Given the description of an element on the screen output the (x, y) to click on. 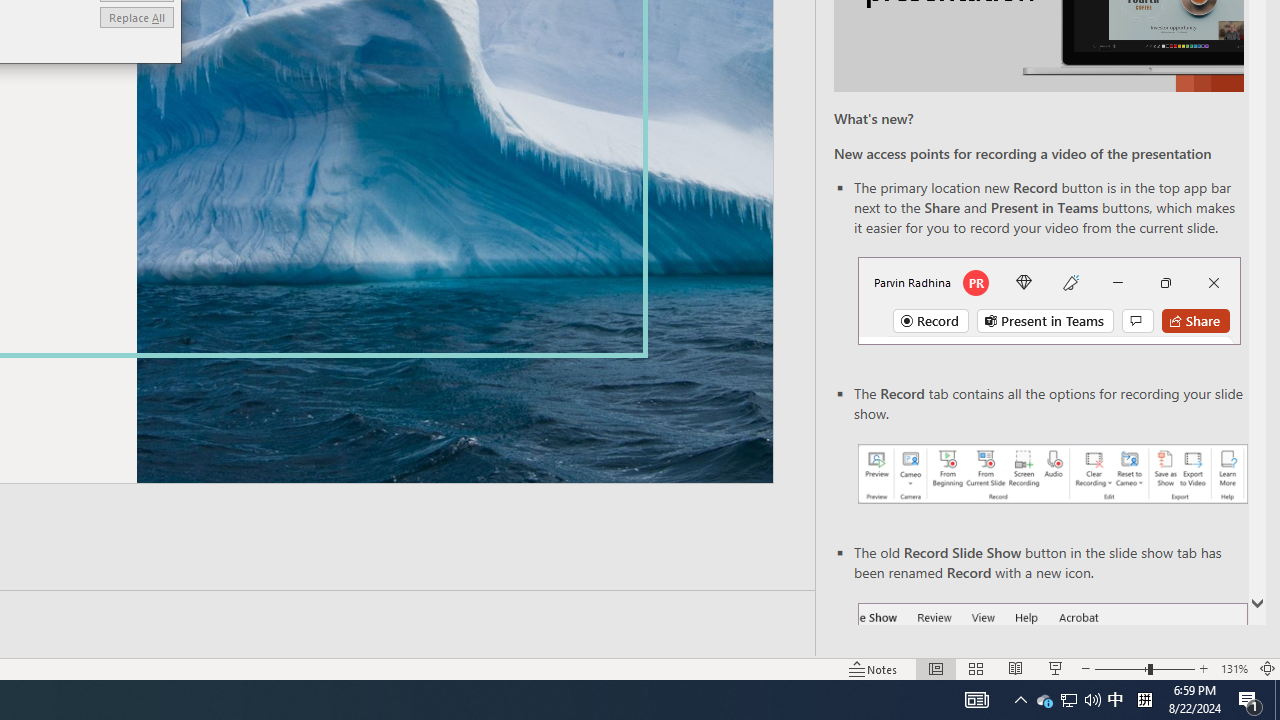
Record button in top bar (1049, 300)
